Given the description of an element on the screen output the (x, y) to click on. 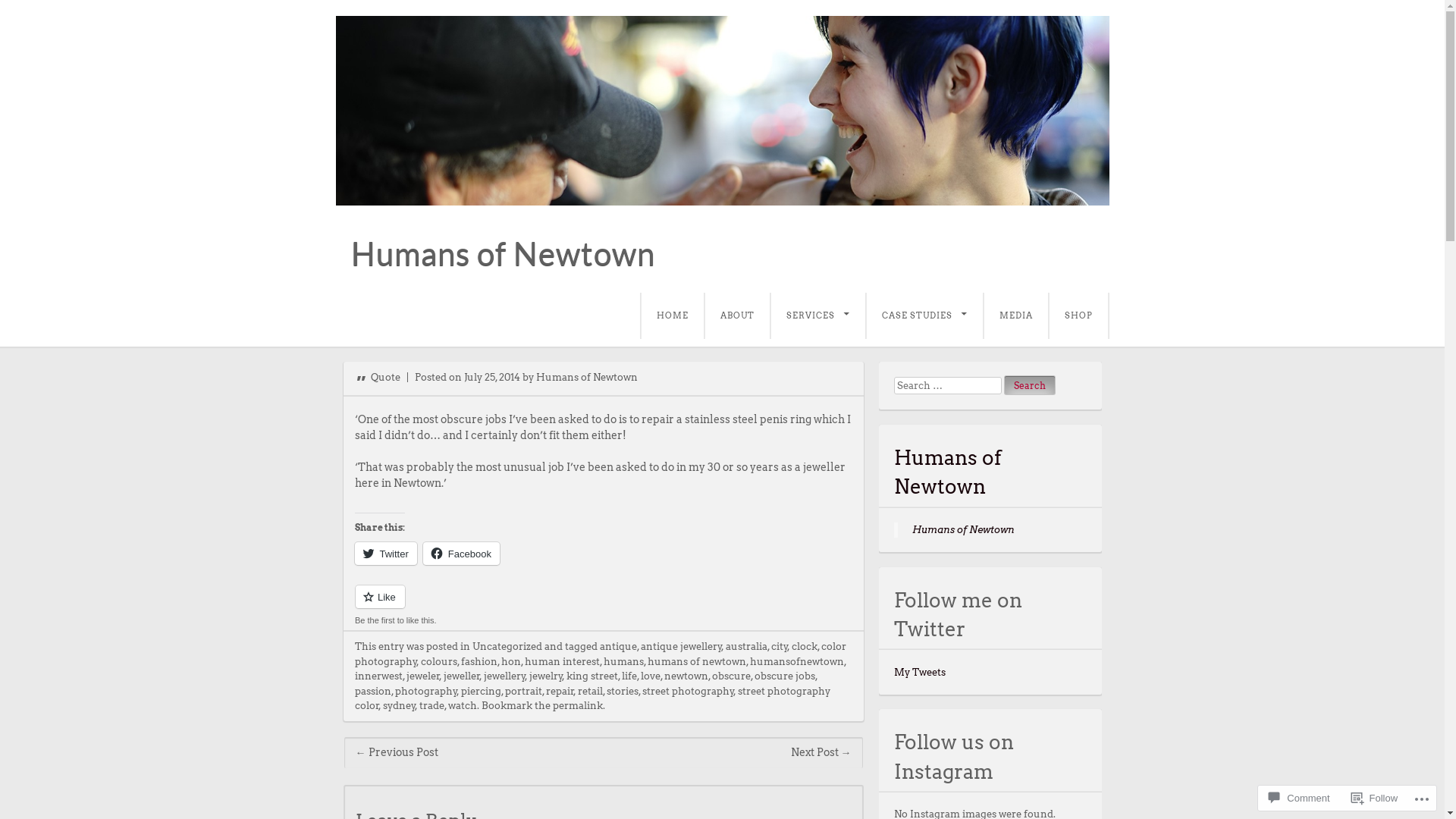
jewellery Element type: text (504, 675)
July 25, 2014 Element type: text (492, 376)
CASE STUDIES Element type: text (924, 315)
stories Element type: text (622, 690)
life Element type: text (629, 675)
ABOUT Element type: text (735, 315)
humansofnewtown Element type: text (796, 661)
newtown Element type: text (686, 675)
Humans of Newtown Element type: text (502, 253)
portrait Element type: text (523, 690)
color photography Element type: text (600, 653)
australia Element type: text (745, 646)
clock Element type: text (804, 646)
trade Element type: text (430, 705)
permalink Element type: text (577, 705)
humans of newtown Element type: text (696, 661)
Facebook Element type: text (461, 553)
jewelry Element type: text (545, 675)
antique jewellery Element type: text (680, 646)
humans Element type: text (623, 661)
street photography Element type: text (687, 690)
obscure Element type: text (730, 675)
passion Element type: text (372, 690)
antique Element type: text (617, 646)
king street Element type: text (591, 675)
obscure jobs Element type: text (783, 675)
street photography color Element type: text (592, 698)
Comment Element type: text (1298, 797)
colours Element type: text (438, 661)
human interest Element type: text (561, 661)
jeweler Element type: text (422, 675)
HOME Element type: text (671, 315)
jeweller Element type: text (460, 675)
watch Element type: text (461, 705)
Humans of Newtown Element type: text (586, 376)
Twitter Element type: text (385, 553)
Like or Reblog Element type: hover (603, 605)
repair Element type: text (560, 690)
Humans of Newtown Element type: text (963, 529)
Search Element type: text (1029, 385)
fashion Element type: text (479, 661)
My Tweets Element type: text (918, 671)
SERVICES Element type: text (817, 315)
MEDIA Element type: text (1014, 315)
hon Element type: text (510, 661)
Follow Element type: text (1374, 797)
piercing Element type: text (481, 690)
Uncategorized Element type: text (506, 646)
love Element type: text (649, 675)
innerwest Element type: text (378, 675)
city Element type: text (778, 646)
sydney Element type: text (398, 705)
photography Element type: text (425, 690)
SHOP Element type: text (1077, 315)
Humans of Newtown Element type: hover (721, 110)
Quote Element type: text (377, 376)
retail Element type: text (589, 690)
Humans of Newtown Element type: text (946, 471)
